Given the description of an element on the screen output the (x, y) to click on. 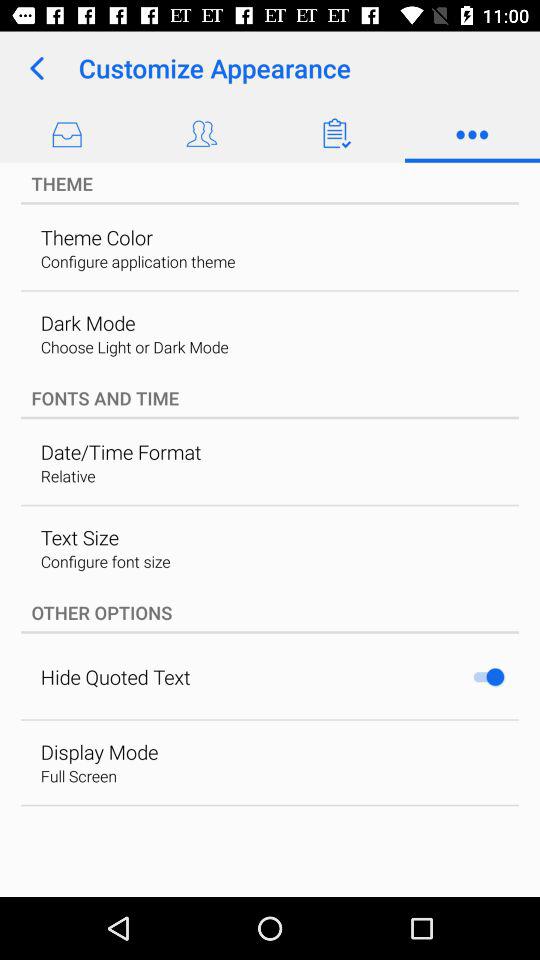
launch item below the dark mode (134, 346)
